Given the description of an element on the screen output the (x, y) to click on. 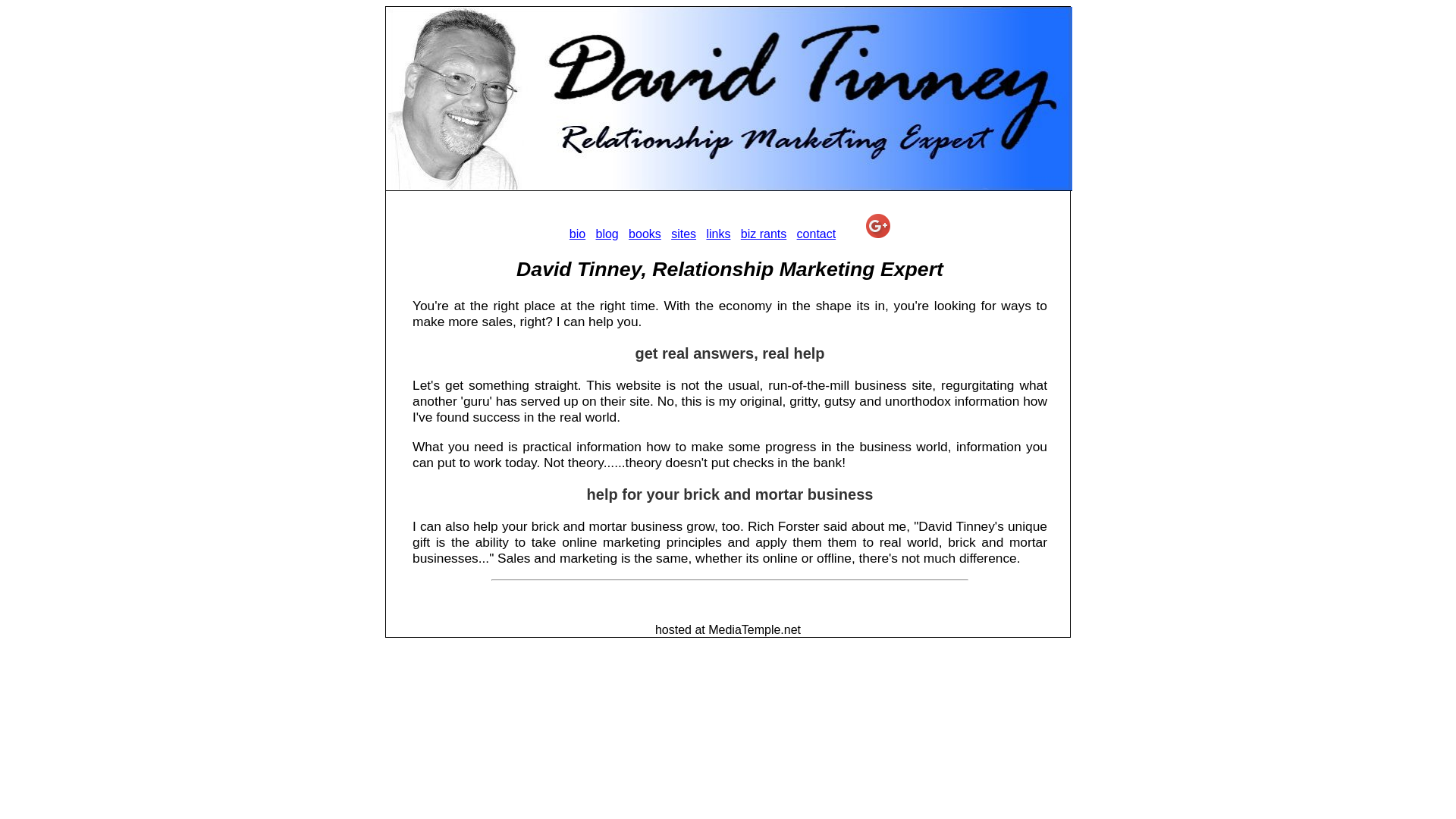
books (644, 233)
sites (683, 233)
links (718, 233)
blog (606, 233)
bio (577, 233)
biz rants (763, 233)
contact (815, 233)
